Given the description of an element on the screen output the (x, y) to click on. 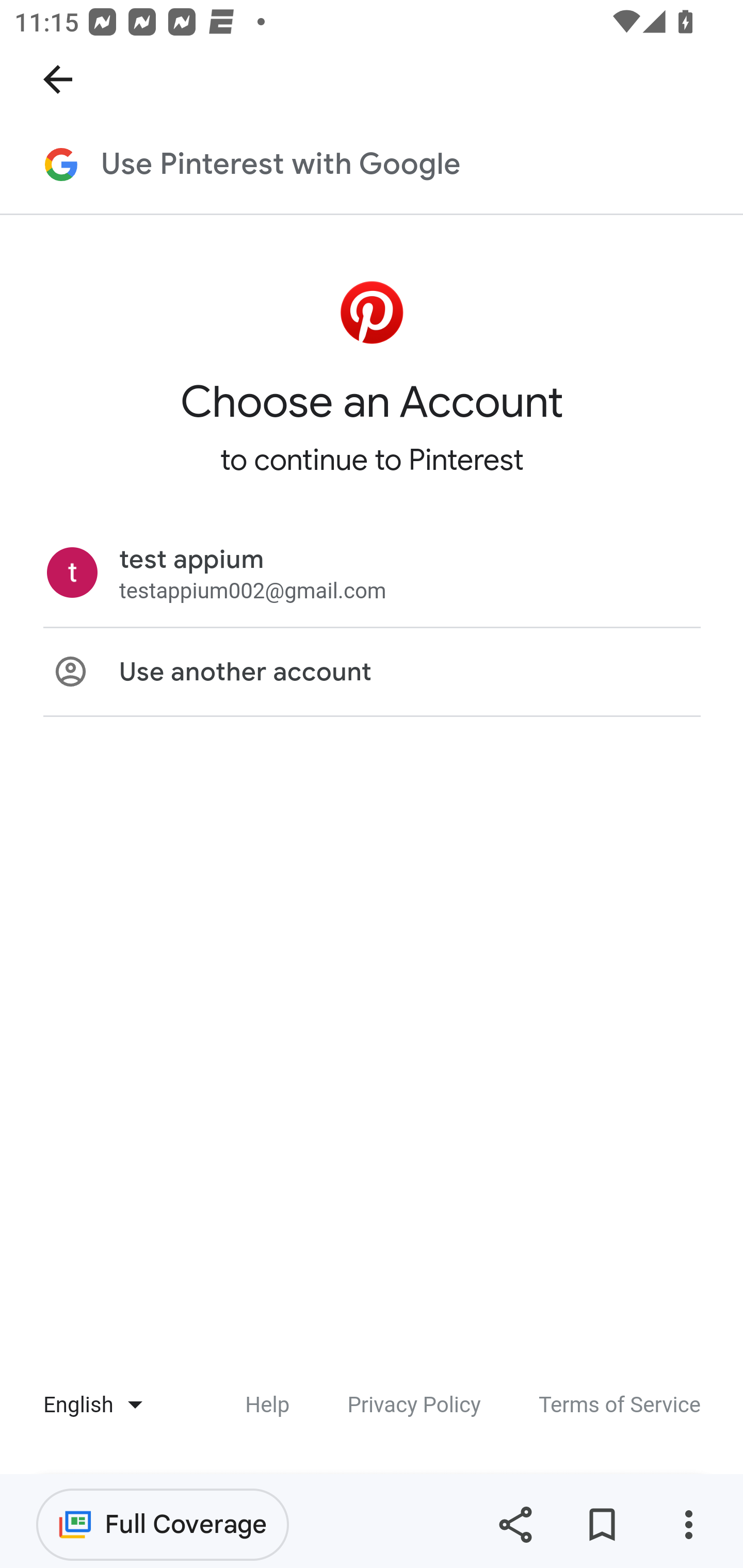
Navigate up (57, 79)
Use another account (371, 673)
Language Chooser ‪English‬ (85, 1405)
Help (266, 1405)
Privacy Policy (414, 1405)
Terms of Service (619, 1405)
Share (514, 1524)
Save for later (601, 1524)
More options (688, 1524)
Full Coverage (162, 1524)
